Given the description of an element on the screen output the (x, y) to click on. 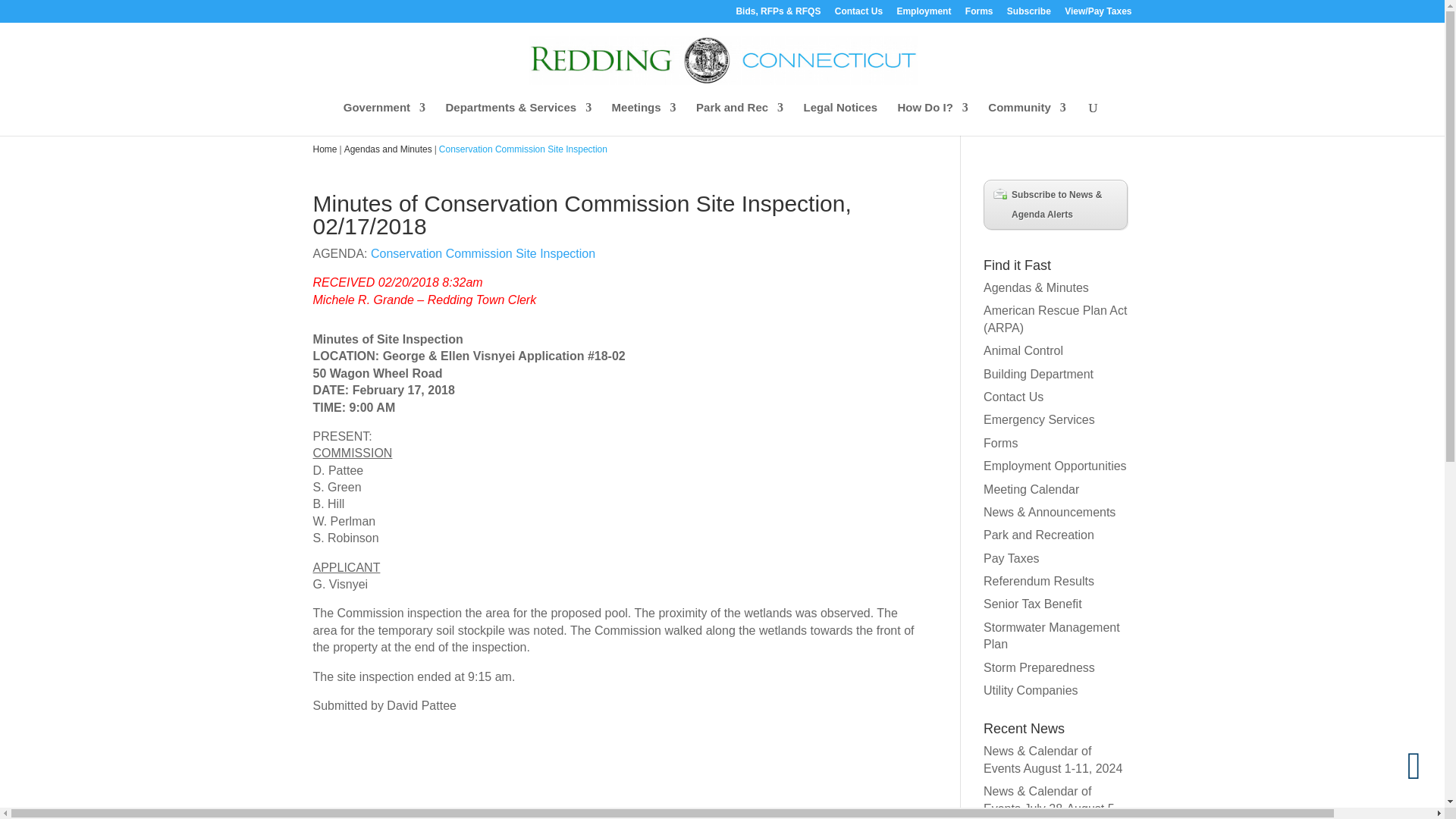
Subscribe (1029, 14)
Government (384, 118)
Go to Town of Redding, Connecticut Official Website. (324, 149)
Go to Agendas and Minutes. (387, 149)
Forms (978, 14)
Employment (923, 14)
Contact Us (858, 14)
